Given the description of an element on the screen output the (x, y) to click on. 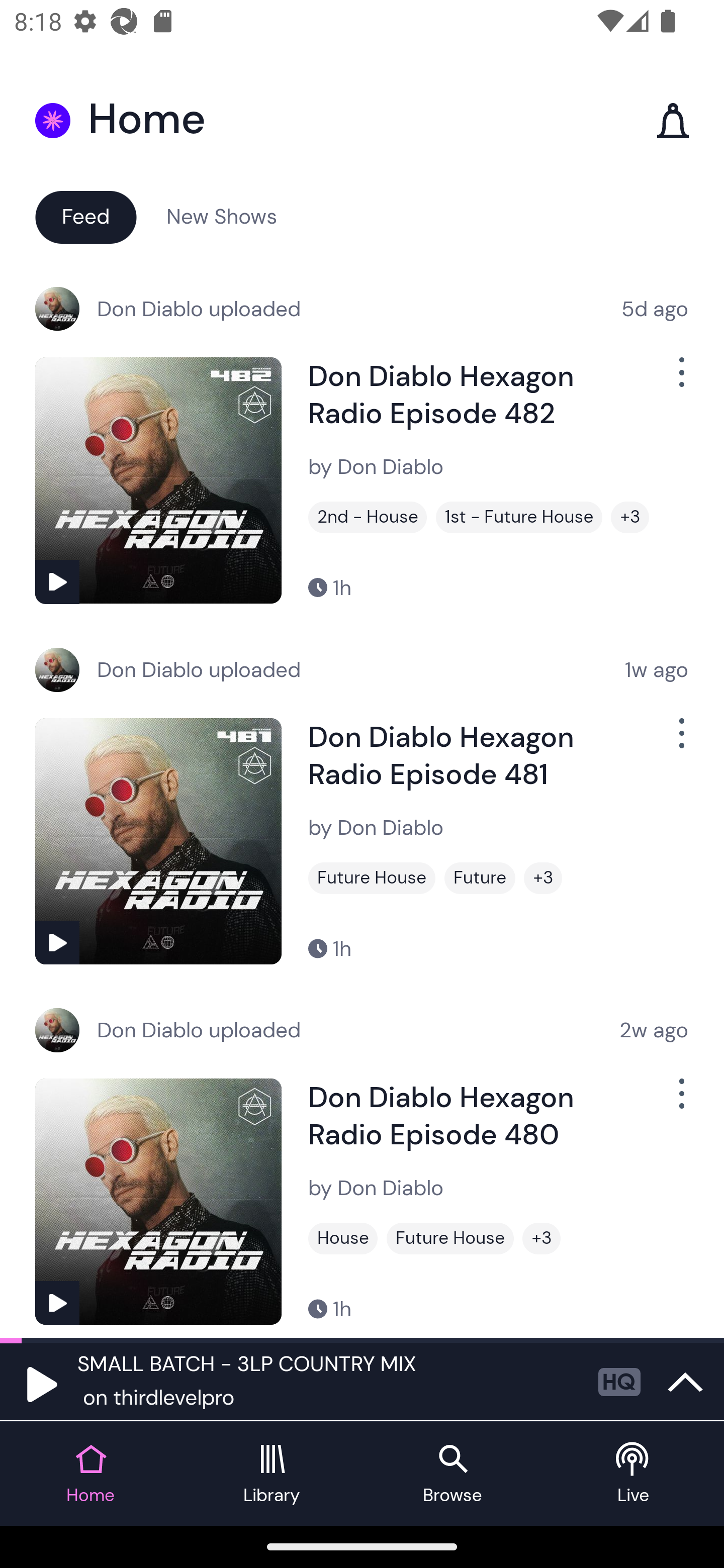
Feed (85, 216)
New Shows (221, 216)
Show Options Menu Button (679, 379)
2nd - House (367, 517)
1st - Future House (518, 517)
Show Options Menu Button (679, 740)
Future House (371, 877)
Future (479, 877)
Show Options Menu Button (679, 1101)
House (342, 1238)
Future House (450, 1238)
Home tab Home (90, 1473)
Library tab Library (271, 1473)
Browse tab Browse (452, 1473)
Live tab Live (633, 1473)
